Given the description of an element on the screen output the (x, y) to click on. 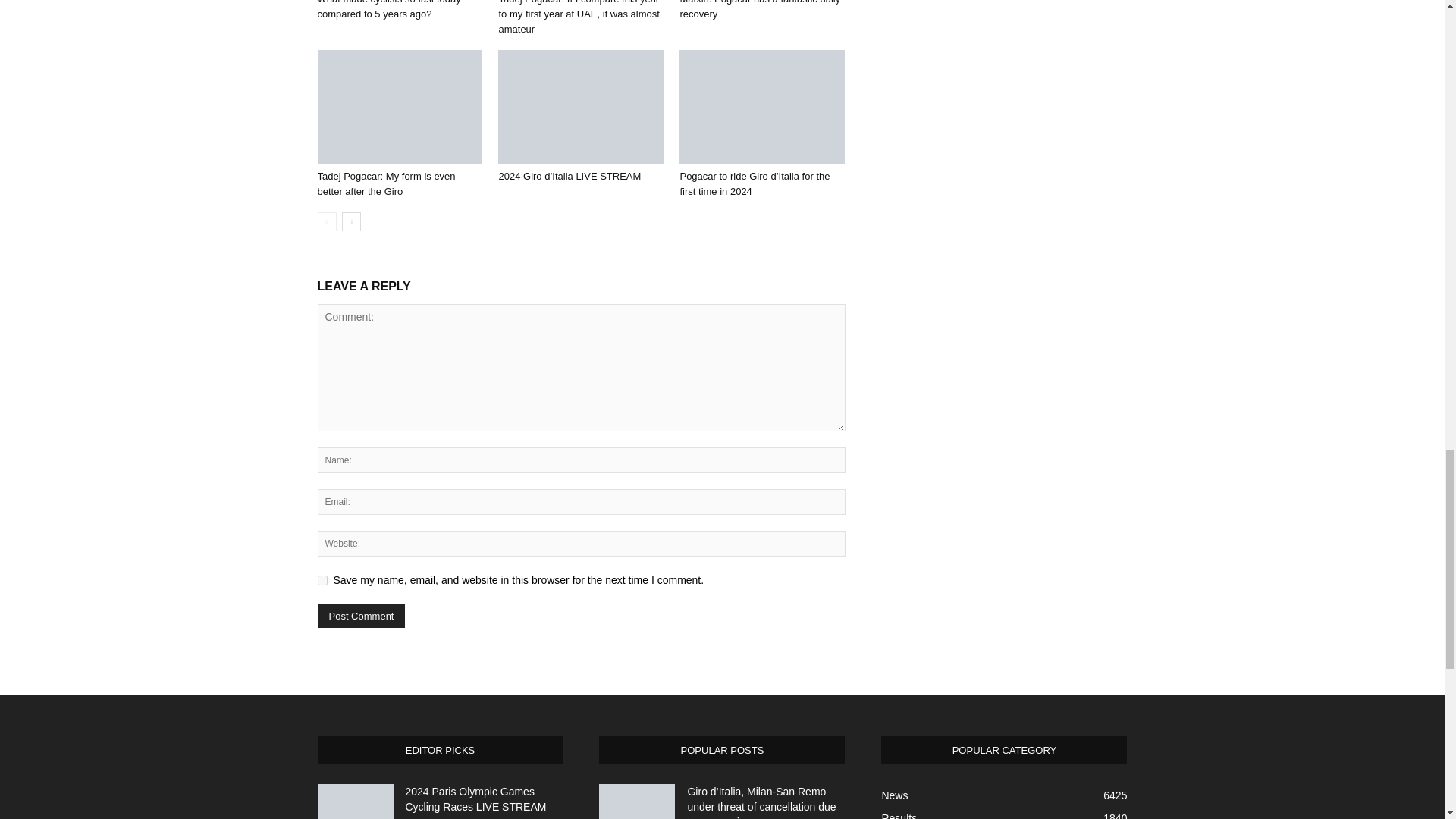
yes (321, 580)
Post Comment (360, 616)
What made cyclists so fast today compared to 5 years ago? (388, 9)
